Given the description of an element on the screen output the (x, y) to click on. 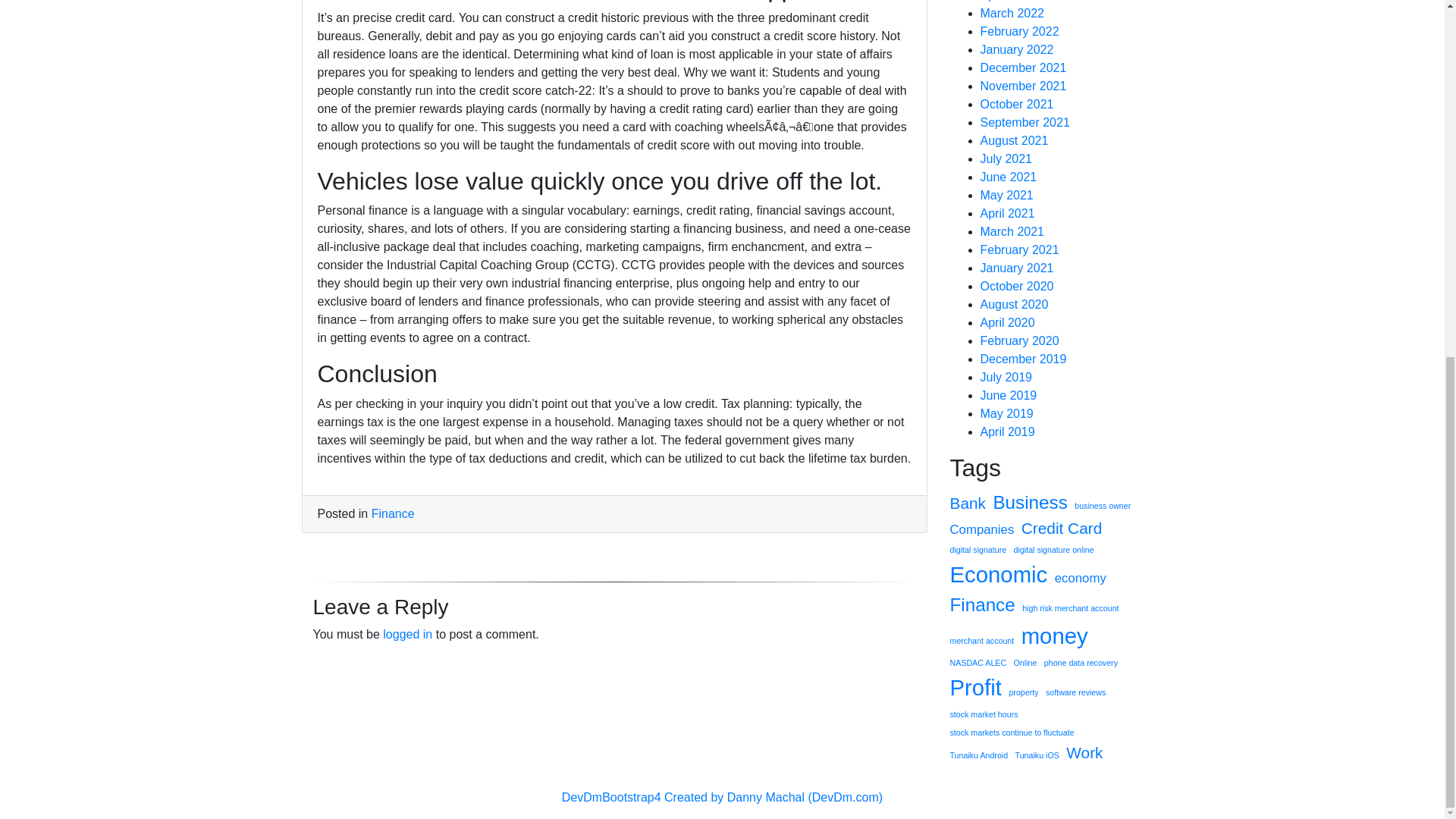
September 2021 (1023, 122)
January 2022 (1015, 49)
August 2021 (1013, 140)
Finance (392, 513)
March 2022 (1011, 12)
June 2021 (1007, 176)
January 2021 (1015, 267)
December 2021 (1022, 67)
April 2021 (1006, 213)
logged in (407, 634)
October 2021 (1015, 103)
August 2020 (1013, 304)
March 2021 (1011, 231)
November 2021 (1022, 85)
July 2021 (1005, 158)
